Given the description of an element on the screen output the (x, y) to click on. 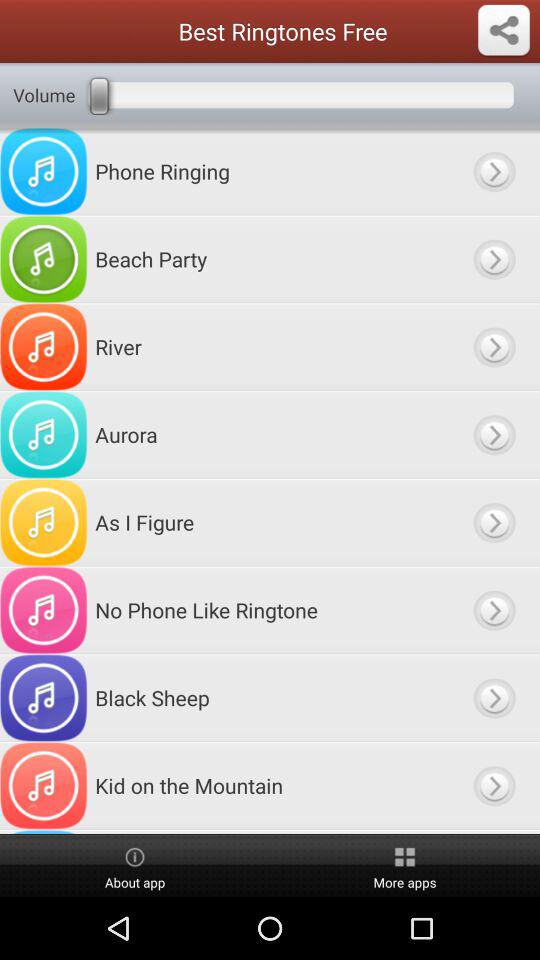
show ringing audio (494, 171)
